Given the description of an element on the screen output the (x, y) to click on. 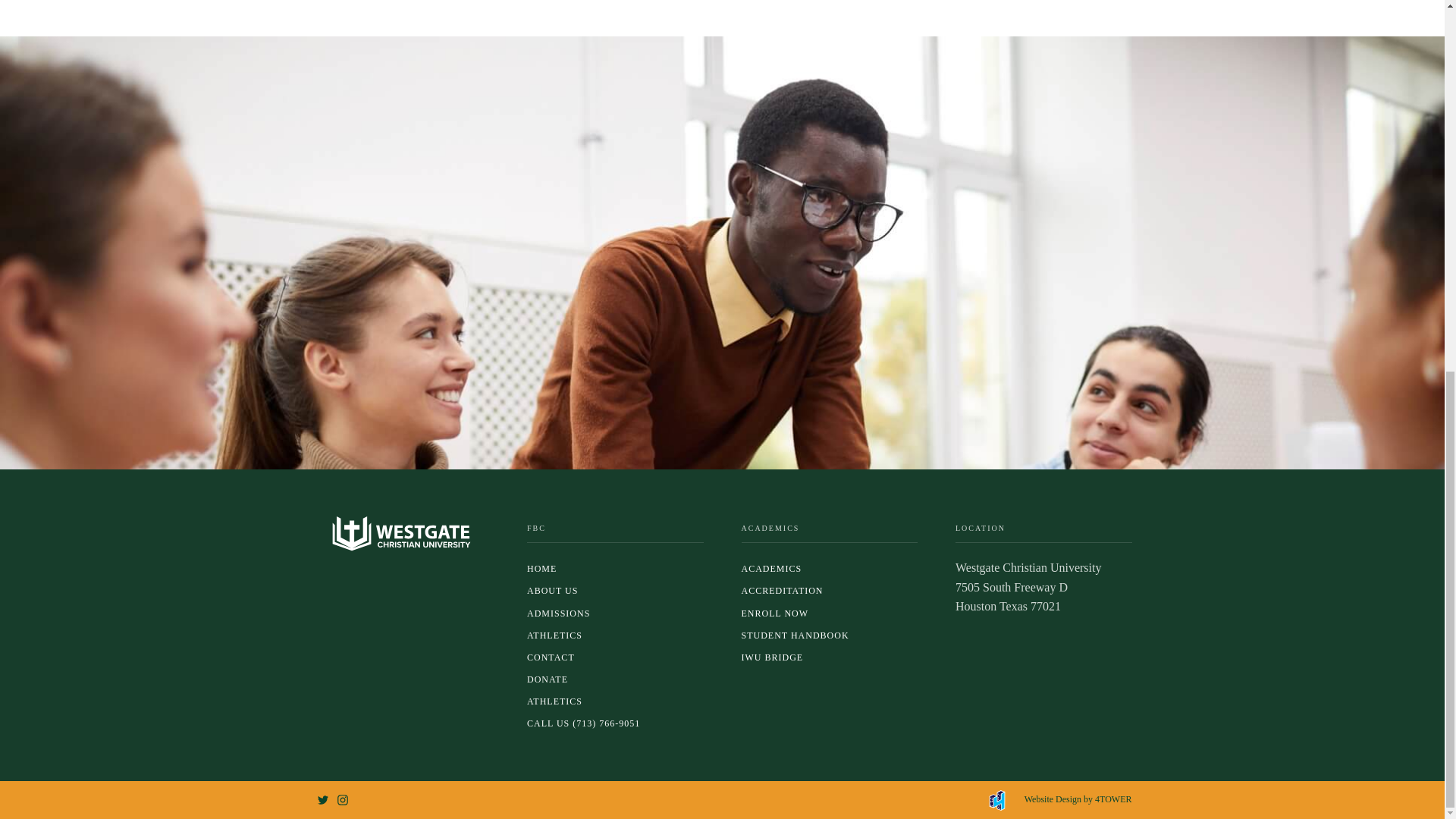
ADMISSIONS (615, 613)
STUDENT HANDBOOK (829, 635)
ATHLETICS (615, 635)
ATHLETICS (615, 701)
Website Design by 4TOWER (1078, 799)
IWU BRIDGE (829, 658)
ENROLL NOW (829, 613)
ABOUT US (615, 590)
CONTACT (615, 658)
DONATE (615, 680)
HOME (615, 568)
ACCREDITATION (829, 590)
ACADEMICS (829, 568)
